Given the description of an element on the screen output the (x, y) to click on. 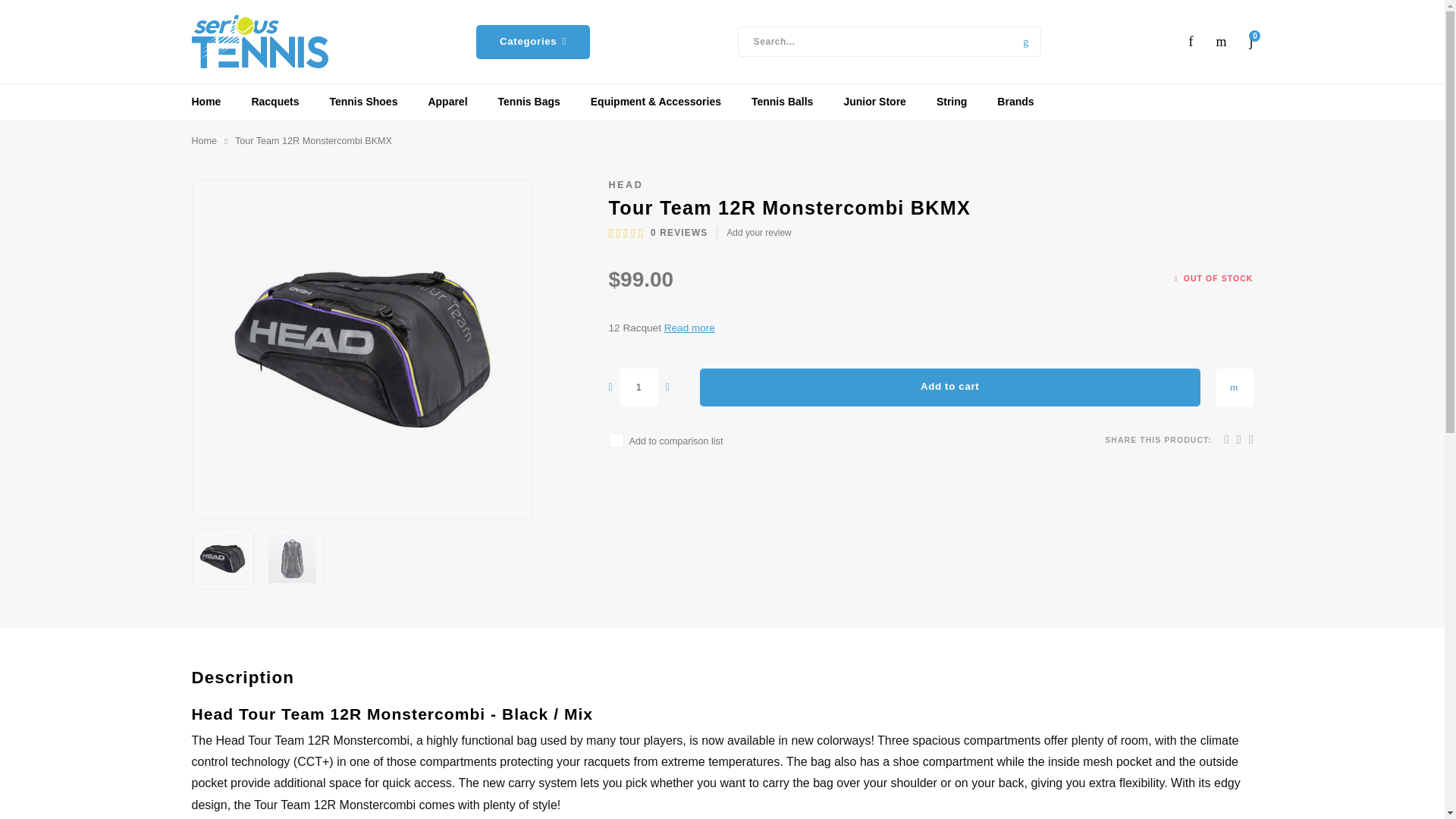
Head Tour Team 12R Monstercombi BKMX (292, 558)
Add to cart (949, 387)
Search (1025, 41)
1 (639, 387)
Home (203, 141)
Head Tour Team 12R Monstercombi BKMX (361, 349)
Head Tour Team 12R Monstercombi BKMX (222, 558)
Add to wishlist (1233, 387)
